Given the description of an element on the screen output the (x, y) to click on. 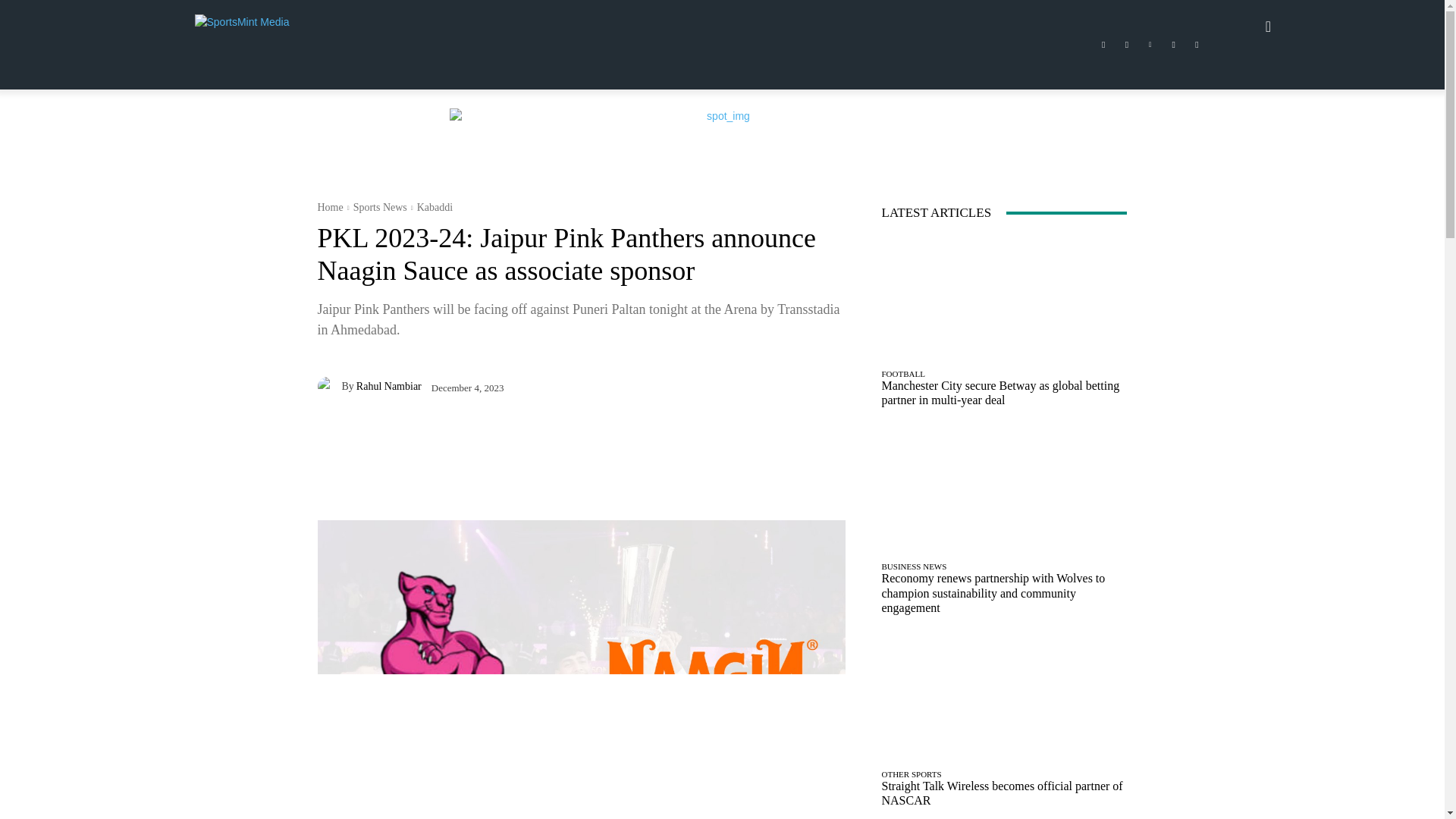
SportsMint Media (257, 25)
Twitter (1173, 45)
SportsMint Media (302, 25)
Instagram (1126, 45)
Facebook (1103, 45)
Linkedin (1149, 45)
